Given the description of an element on the screen output the (x, y) to click on. 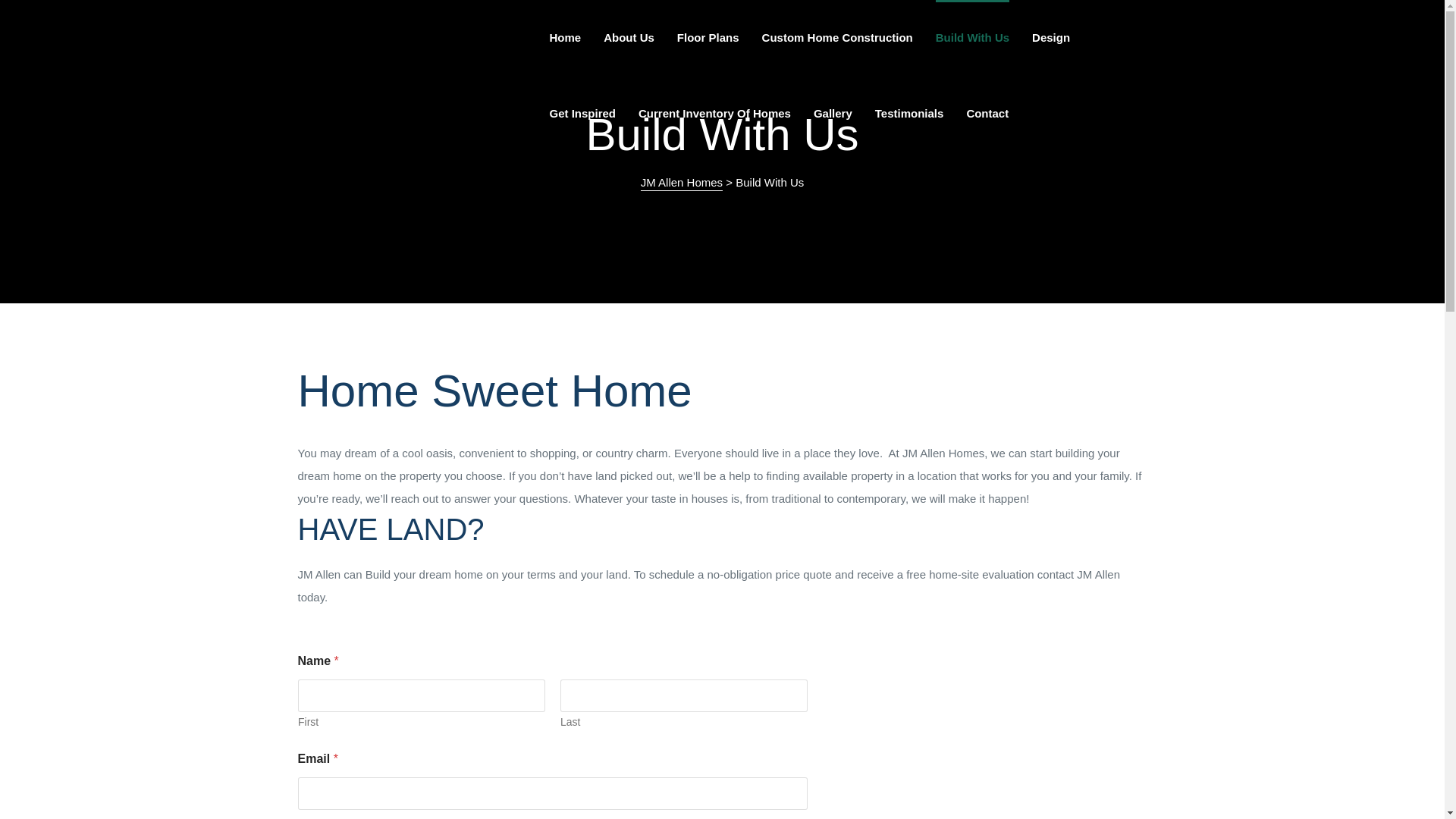
Testimonials (909, 113)
Current Inventory Of Homes (714, 113)
Build With Us (972, 38)
Go to JM Allen Homes. (681, 183)
Custom Home Construction (836, 38)
